Given the description of an element on the screen output the (x, y) to click on. 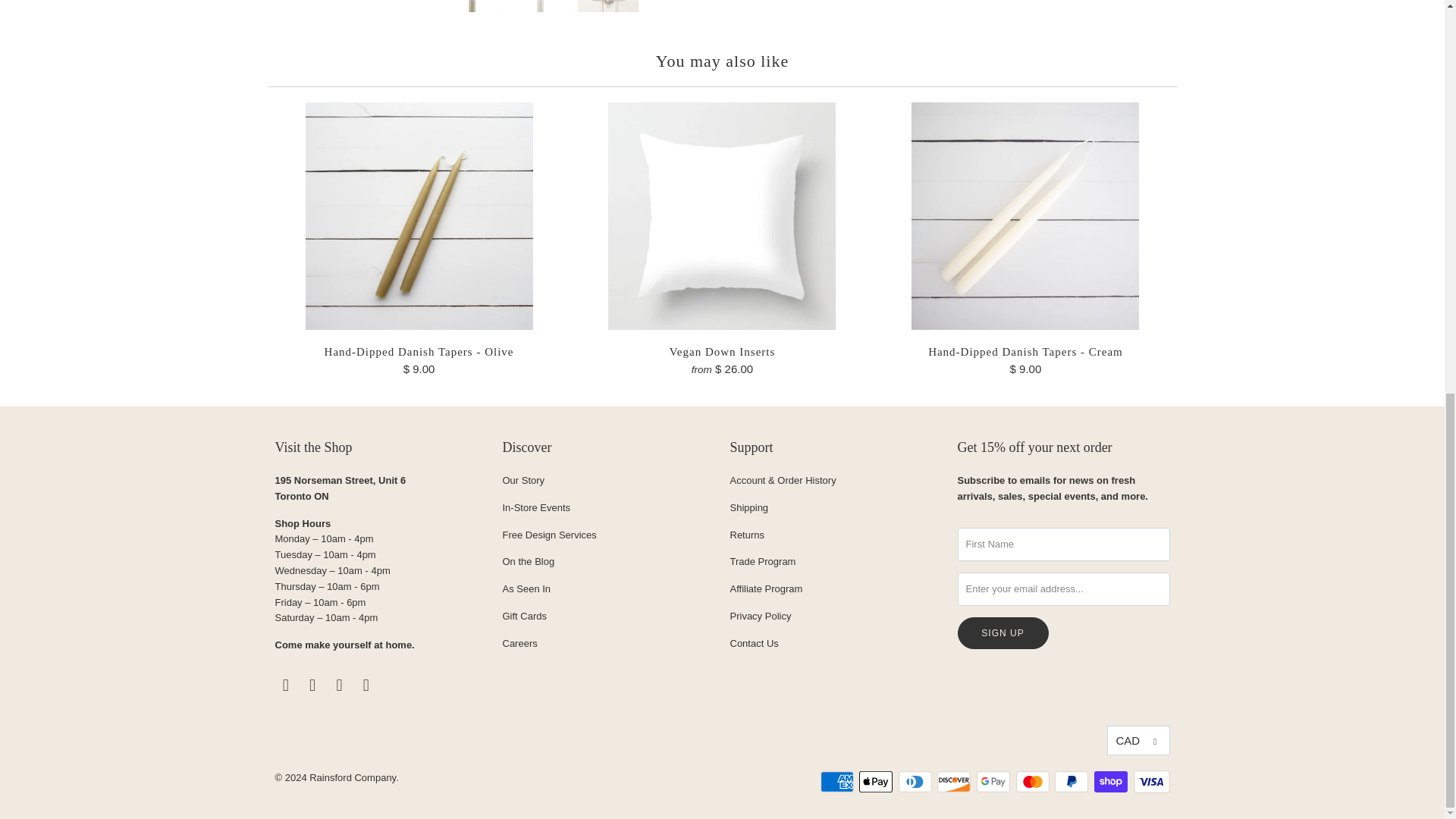
Email Rainsford Company (366, 685)
PayPal (1072, 781)
Discover (955, 781)
Rainsford Company on Instagram (339, 685)
Mastercard (1034, 781)
American Express (839, 781)
Apple Pay (877, 781)
Google Pay (994, 781)
Diners Club (916, 781)
Visa (1150, 781)
Rainsford Company on Facebook (286, 685)
Sign Up (1002, 633)
Shop Pay (1112, 781)
Rainsford Company on Pinterest (312, 685)
